Given the description of an element on the screen output the (x, y) to click on. 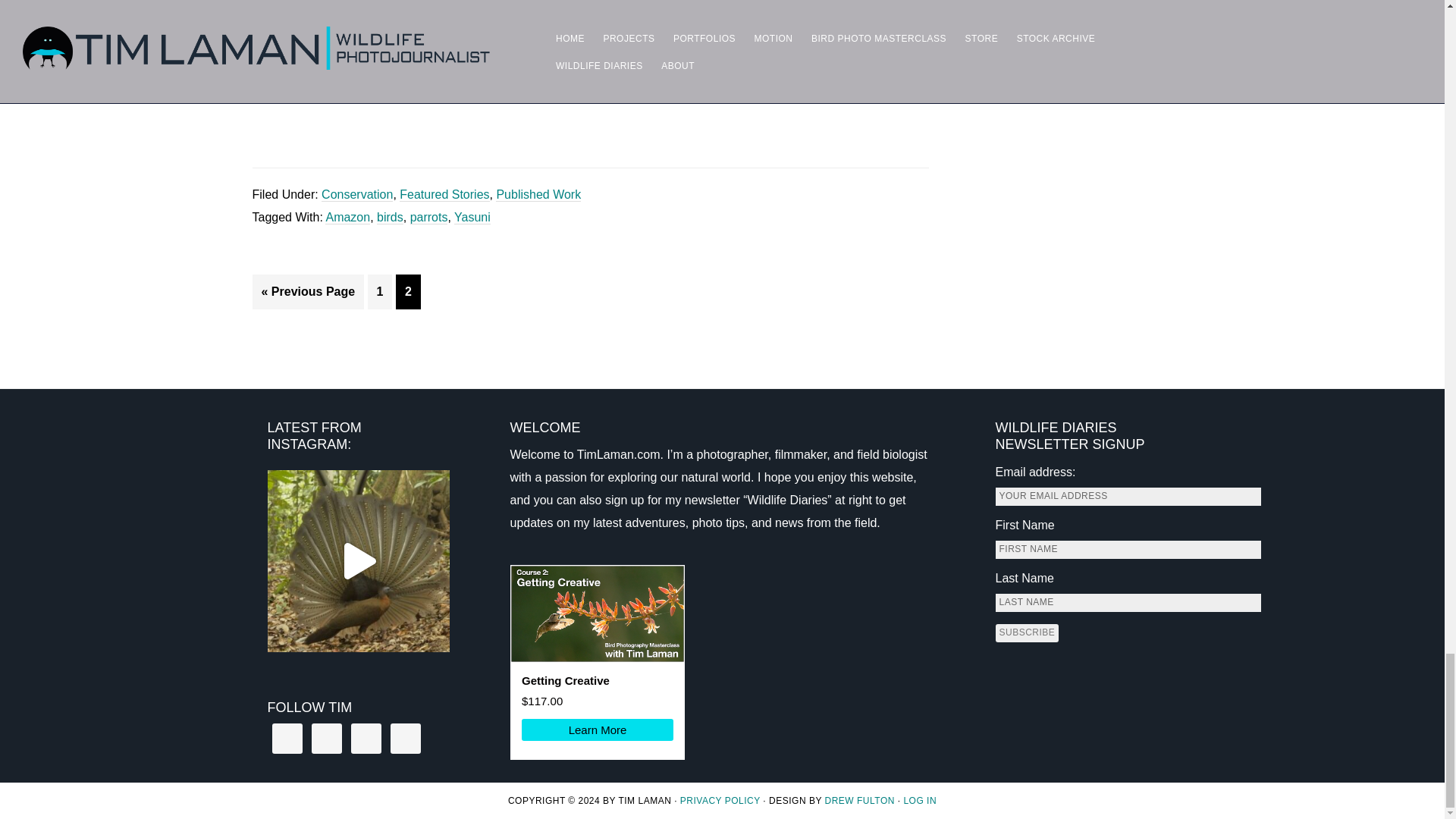
Subscribe (1026, 633)
